Given the description of an element on the screen output the (x, y) to click on. 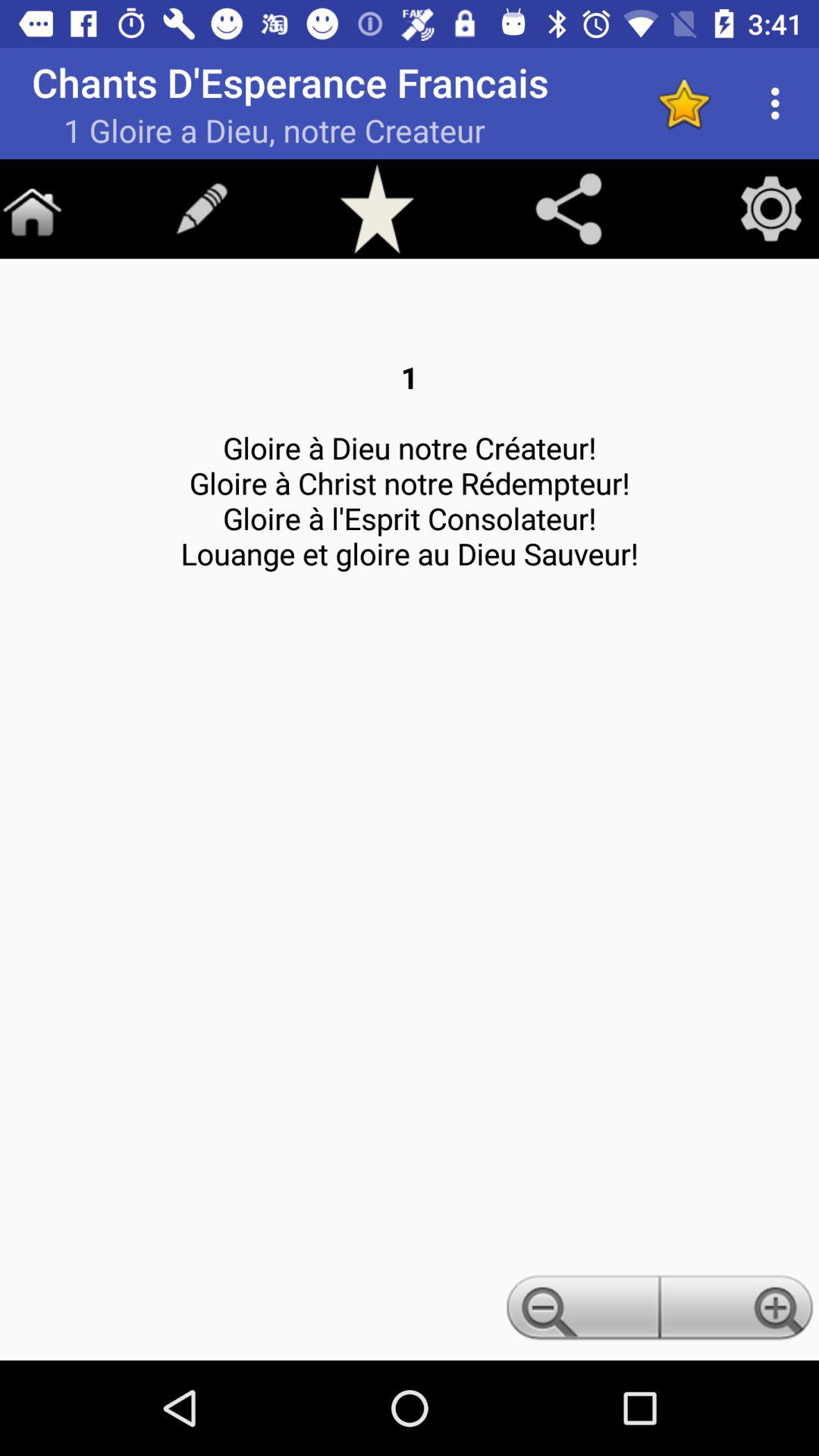
share (568, 208)
